Given the description of an element on the screen output the (x, y) to click on. 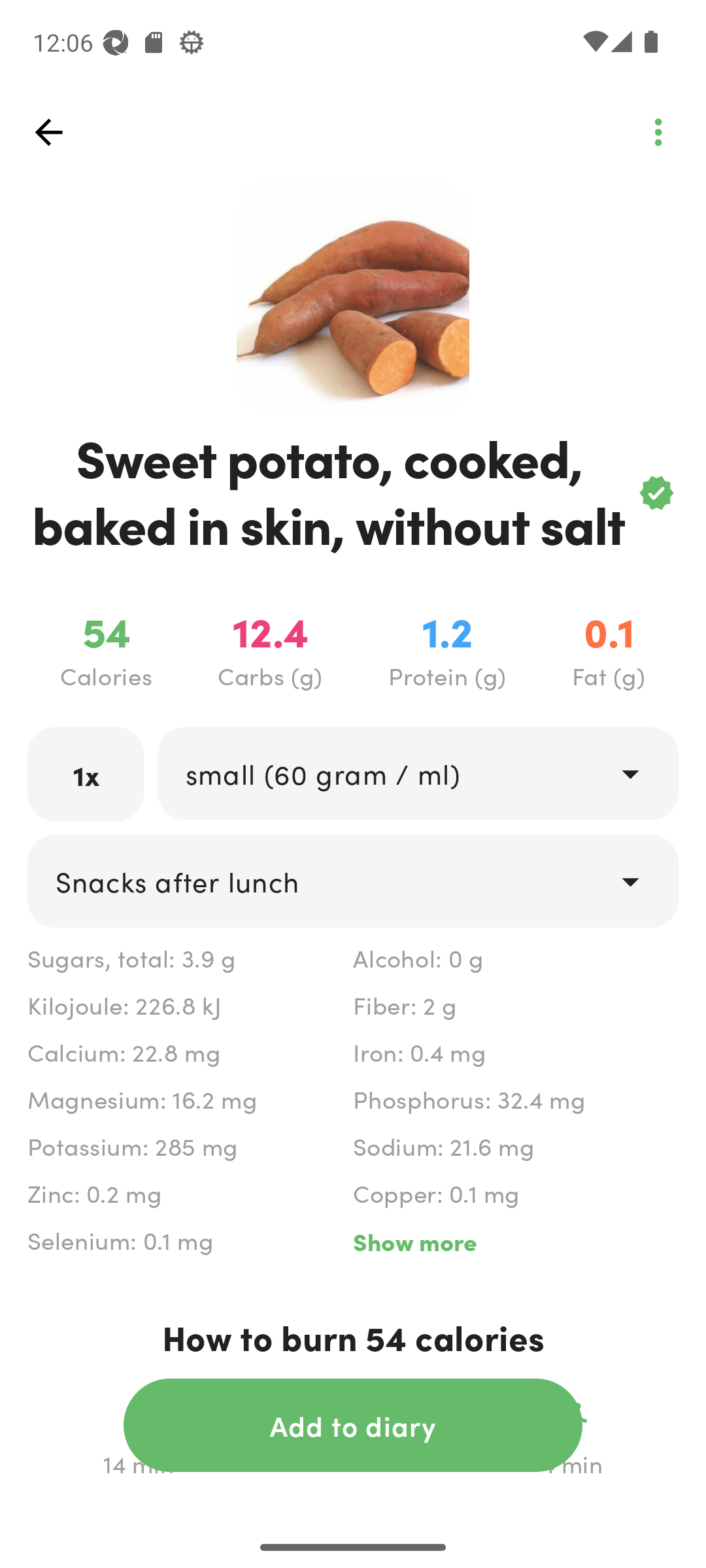
top_left_action (48, 132)
top_left_action (658, 132)
1x labeled_edit_text (85, 774)
drop_down small (60 gram / ml) (417, 773)
drop_down Snacks after lunch (352, 881)
Show more (515, 1240)
action_button Add to diary (352, 1425)
